Given the description of an element on the screen output the (x, y) to click on. 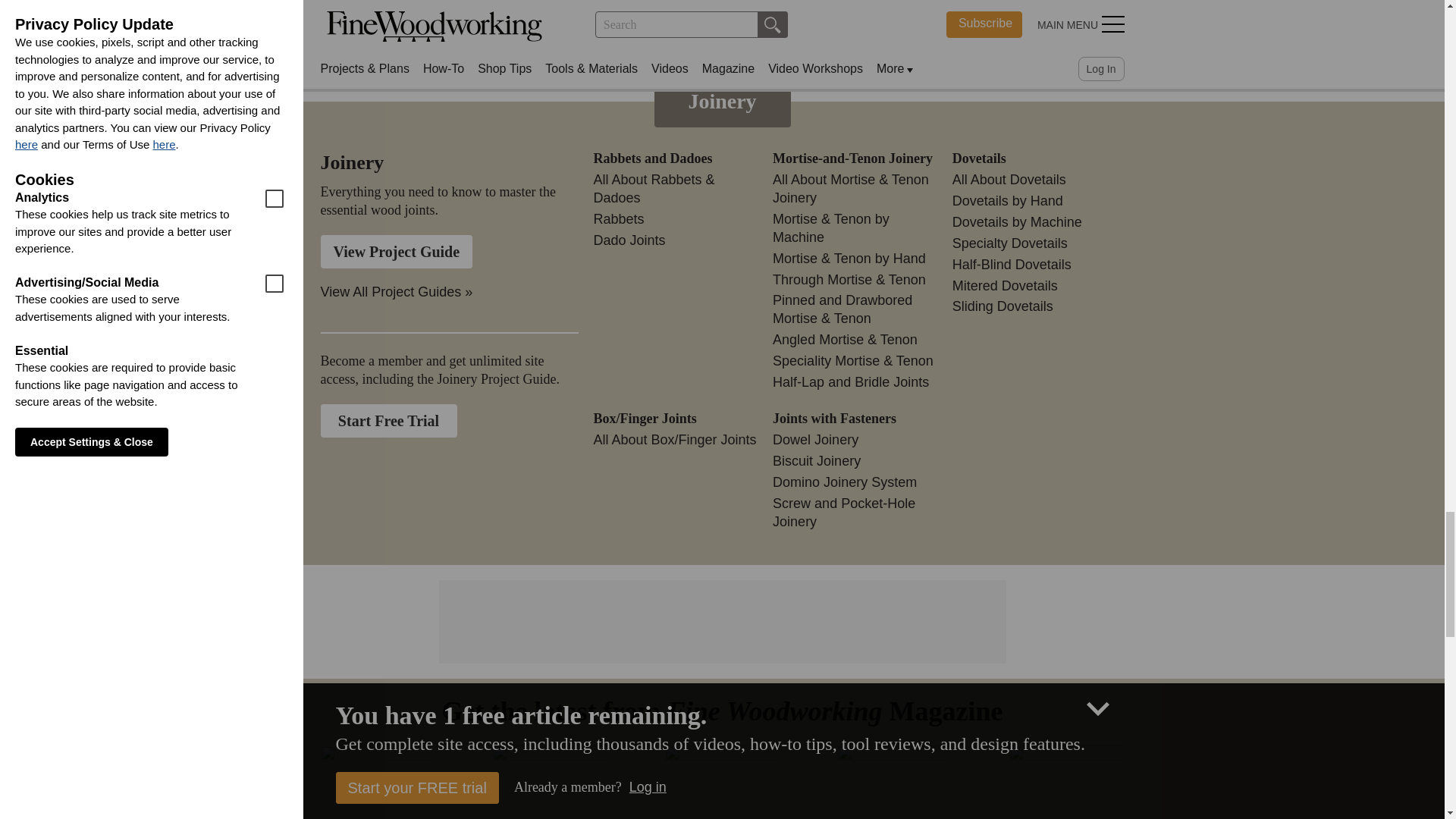
3rd party ad content (448, 7)
3rd party ad content (721, 622)
